Given the description of an element on the screen output the (x, y) to click on. 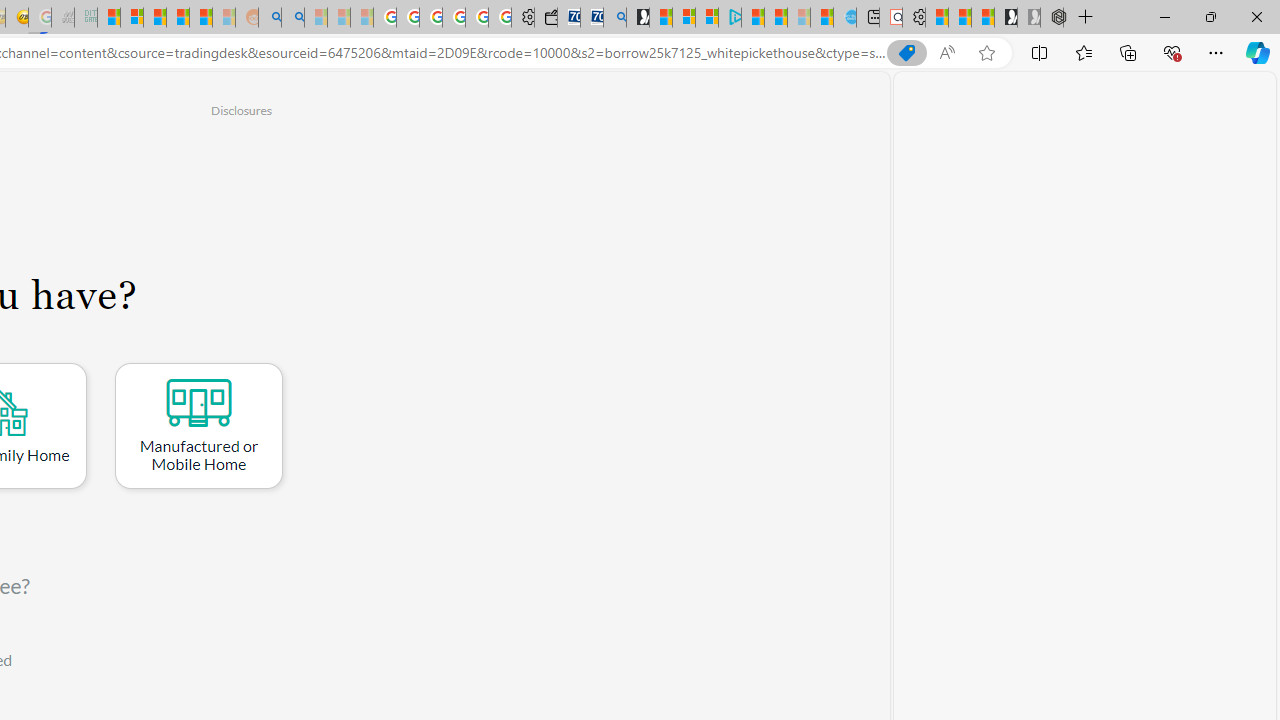
Disclosures (241, 110)
